Given the description of an element on the screen output the (x, y) to click on. 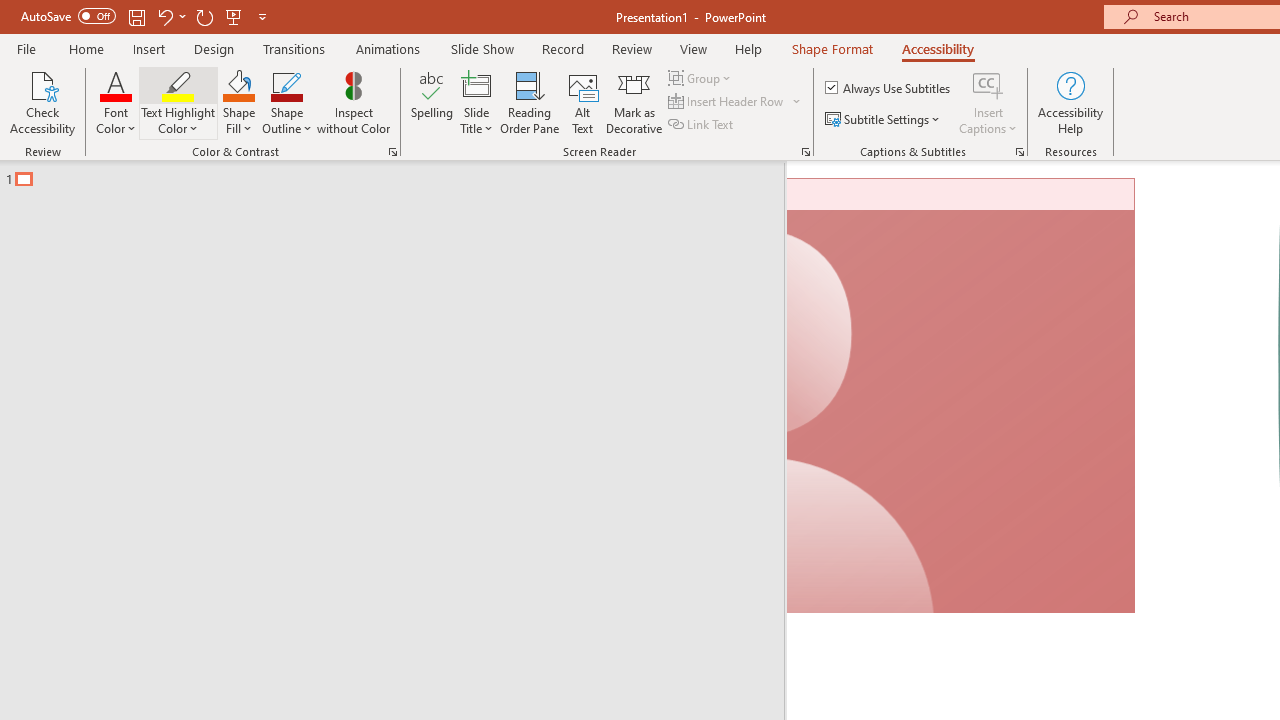
Mark as Decorative (634, 102)
Inspect without Color (353, 102)
Accessibility Help (1070, 102)
